Given the description of an element on the screen output the (x, y) to click on. 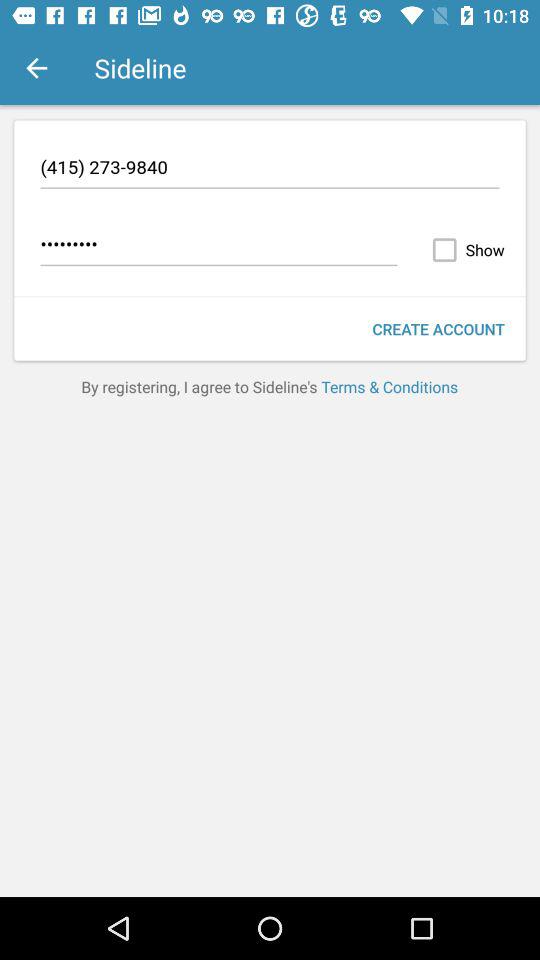
press crowd3116 icon (218, 247)
